Given the description of an element on the screen output the (x, y) to click on. 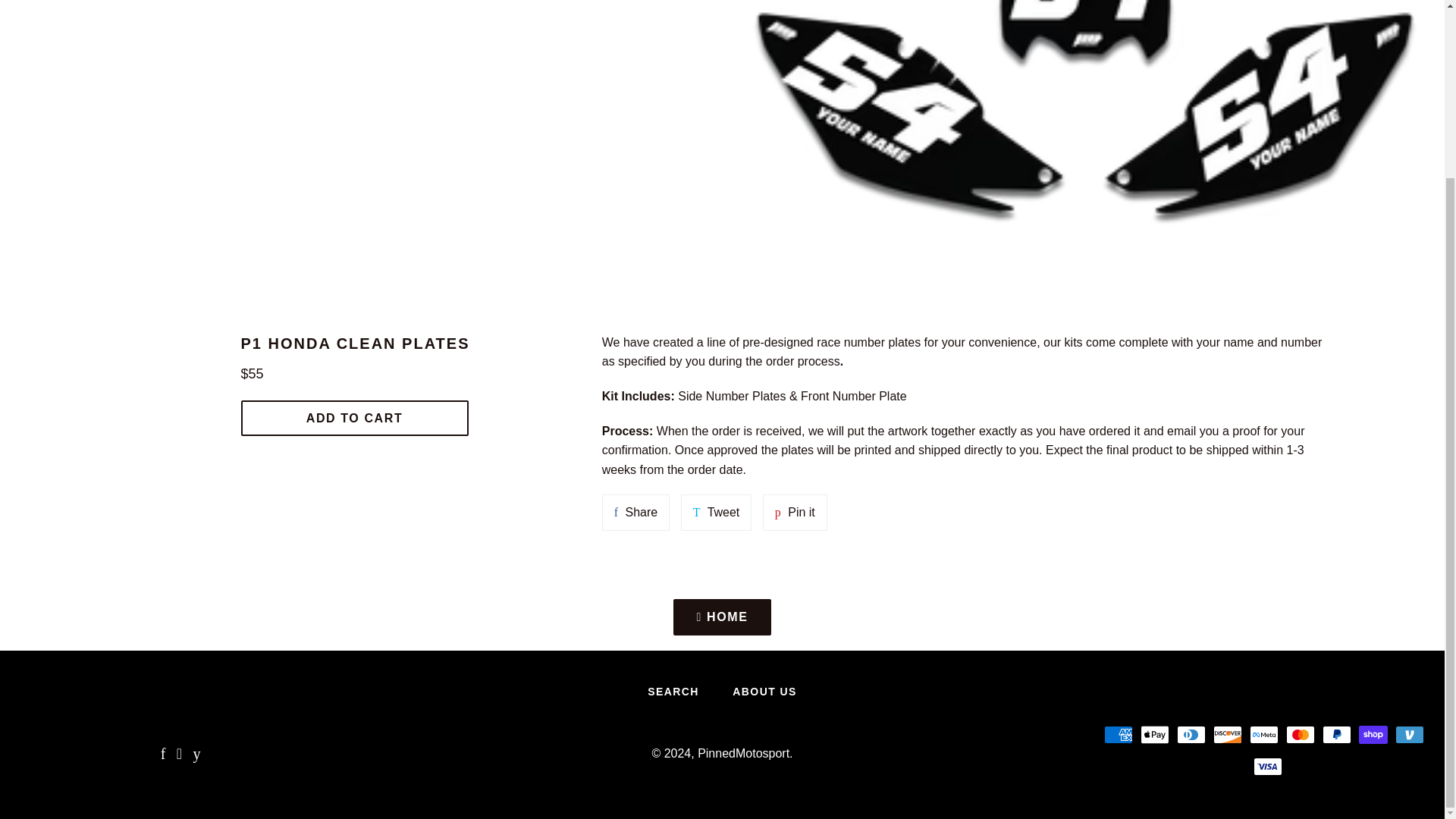
Discover (1226, 734)
PayPal (1336, 734)
ADD TO CART (354, 417)
Mastercard (1299, 734)
Shop Pay (1372, 734)
Tweet on Twitter (716, 512)
Diners Club (1190, 734)
Share on Facebook (635, 512)
Venmo (1408, 734)
Pin on Pinterest (794, 512)
